Given the description of an element on the screen output the (x, y) to click on. 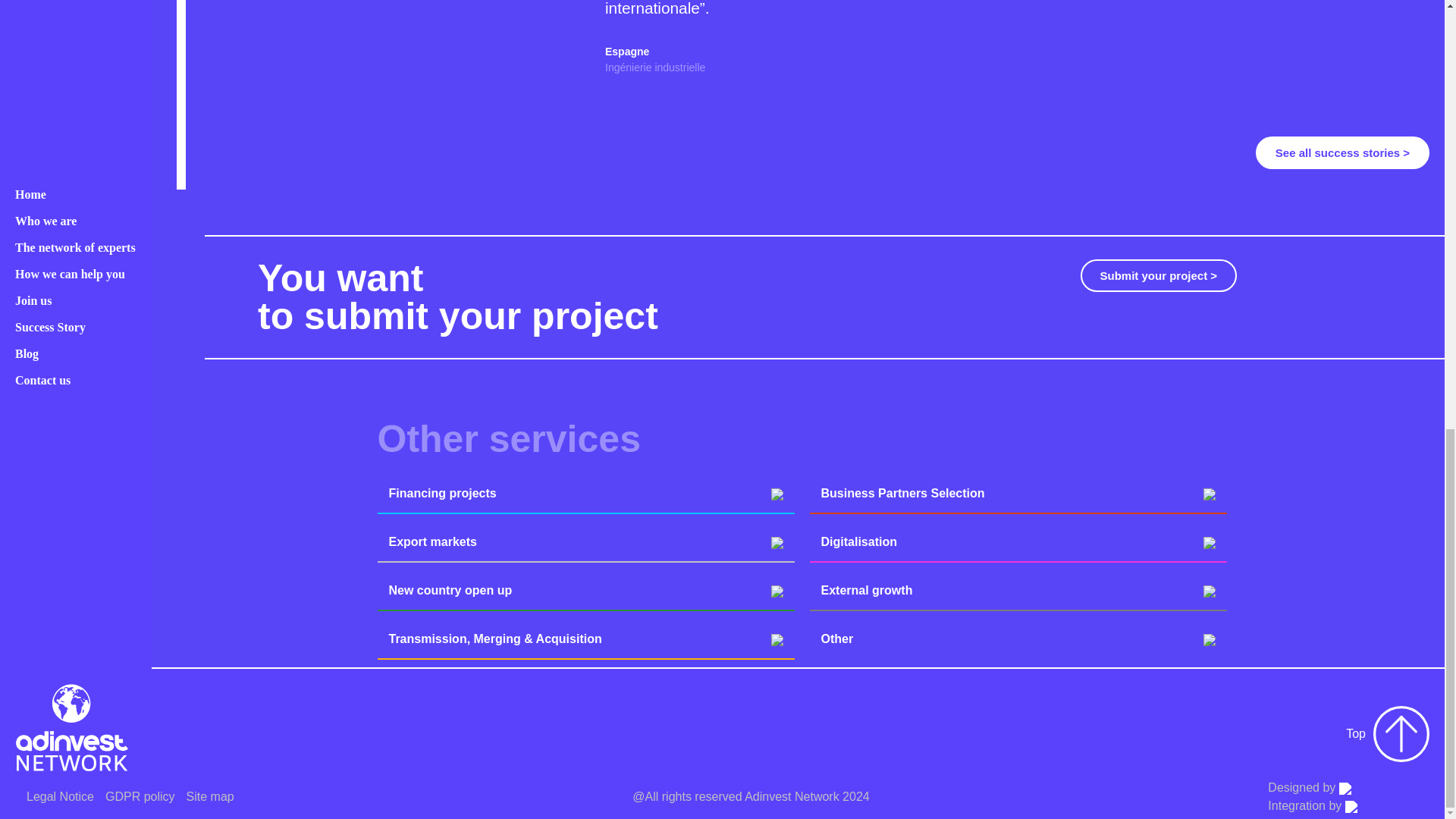
Site map (210, 796)
Export markets (585, 541)
Legal Notice (60, 796)
GDPR policy (139, 796)
Business Partners Selection (1018, 493)
Other (1018, 639)
Top (1387, 733)
Digitalisation (1018, 541)
External growth (1018, 590)
New country open up (585, 590)
